Given the description of an element on the screen output the (x, y) to click on. 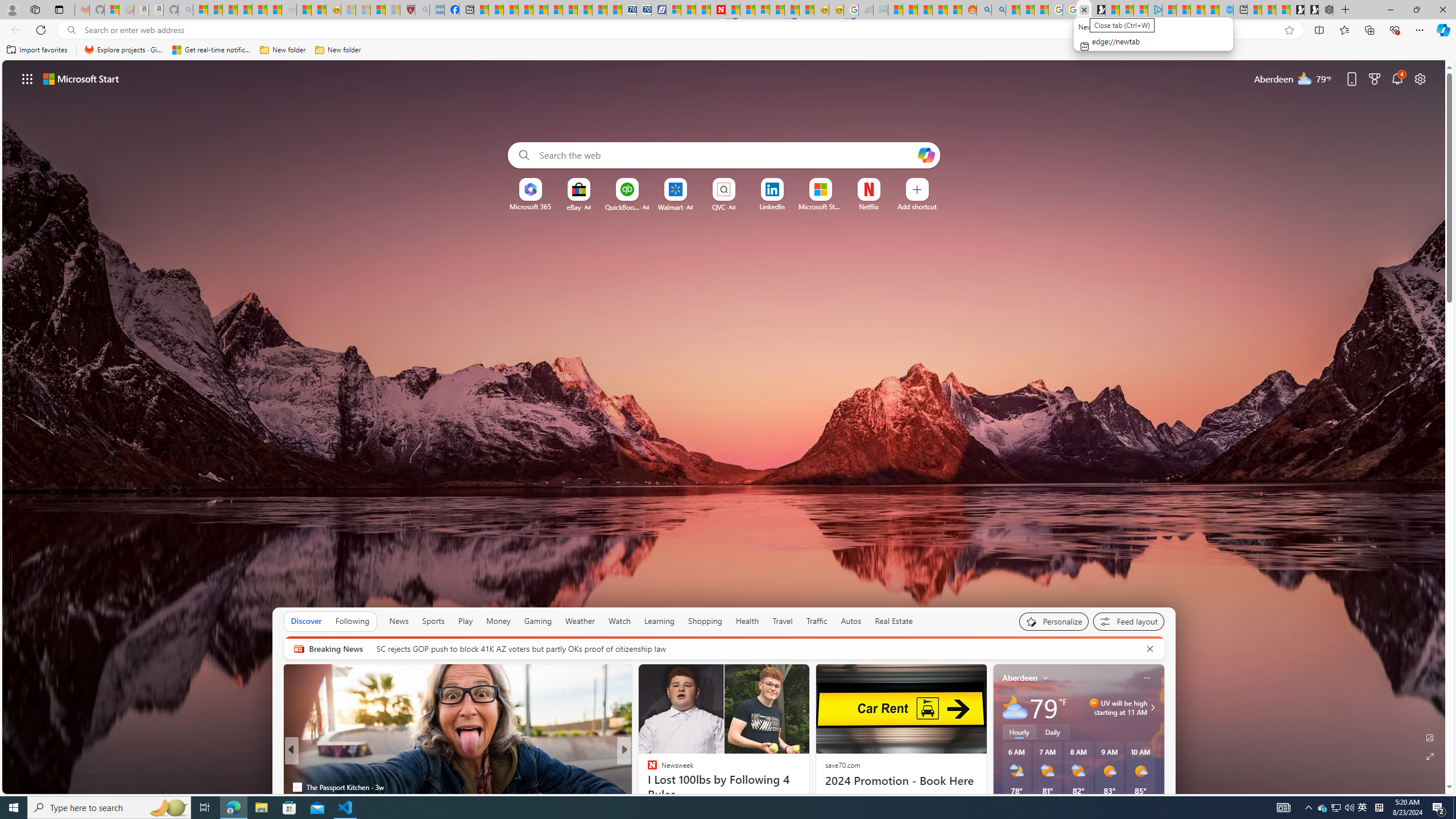
My location (1045, 677)
Ad (731, 207)
Nordace - Nordace Siena Is Not An Ordinary Backpack (1325, 9)
The Telegraph (647, 786)
Microsoft account | Privacy (1140, 9)
Microsoft-Report a Concern to Bing (111, 9)
Watch (619, 621)
AutomationID: backgroundImagePicture (723, 426)
Trusted Community Engagement and Contributions | Guidelines (732, 9)
